Given the description of an element on the screen output the (x, y) to click on. 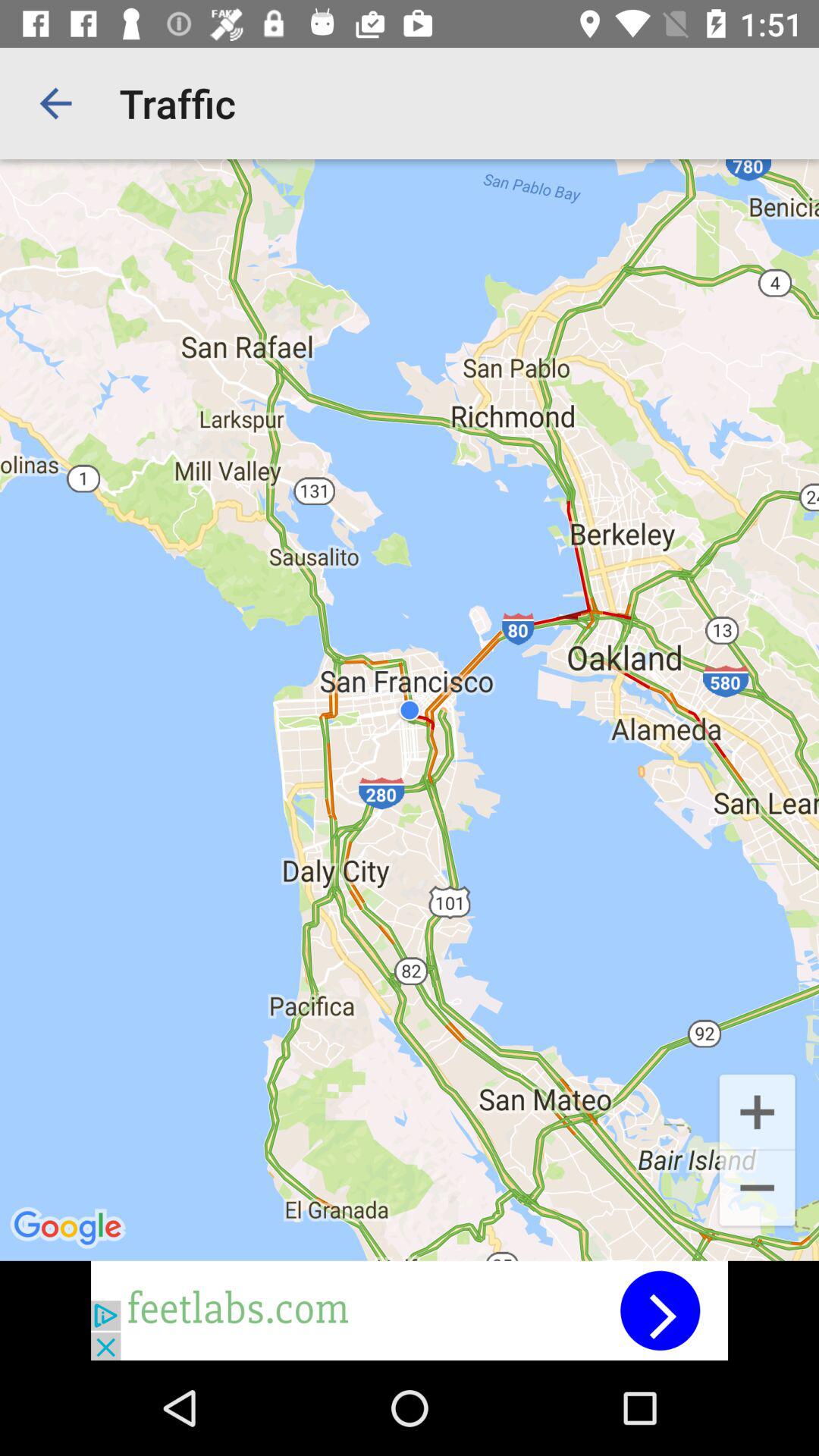
view advertisement (409, 1310)
